Given the description of an element on the screen output the (x, y) to click on. 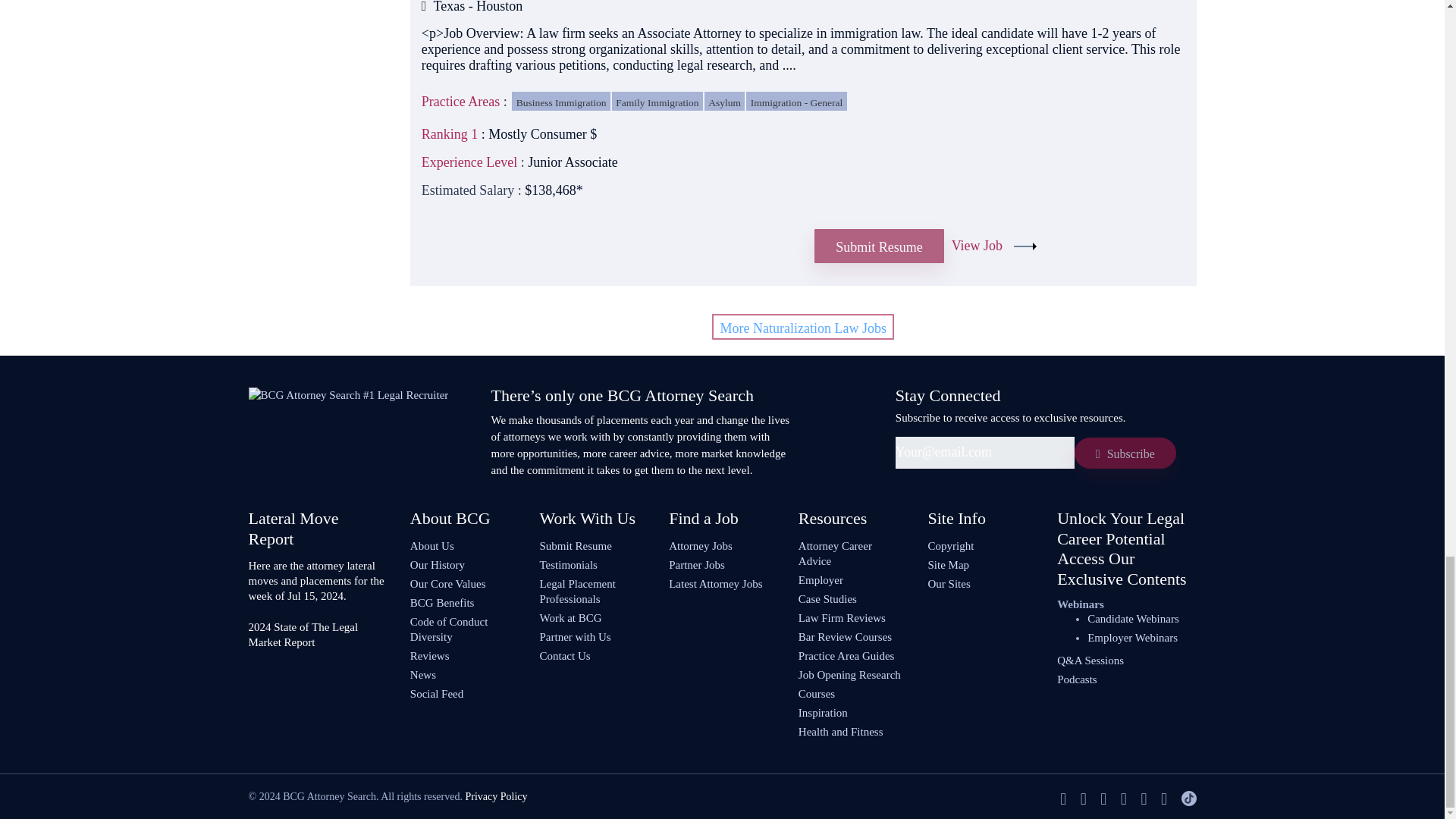
BCG Attorney Search Pinterest (1143, 798)
BCG Attorney Search Tiktok (1188, 798)
BCG Attorney Search Instagram (1163, 798)
BCG Attorney Search Twitter (1083, 798)
BCG Attorney Search Linkedin (1103, 798)
BCG Attorney Search Youtube (1123, 798)
BCG Attorney Search Facebook (1062, 798)
